Given the description of an element on the screen output the (x, y) to click on. 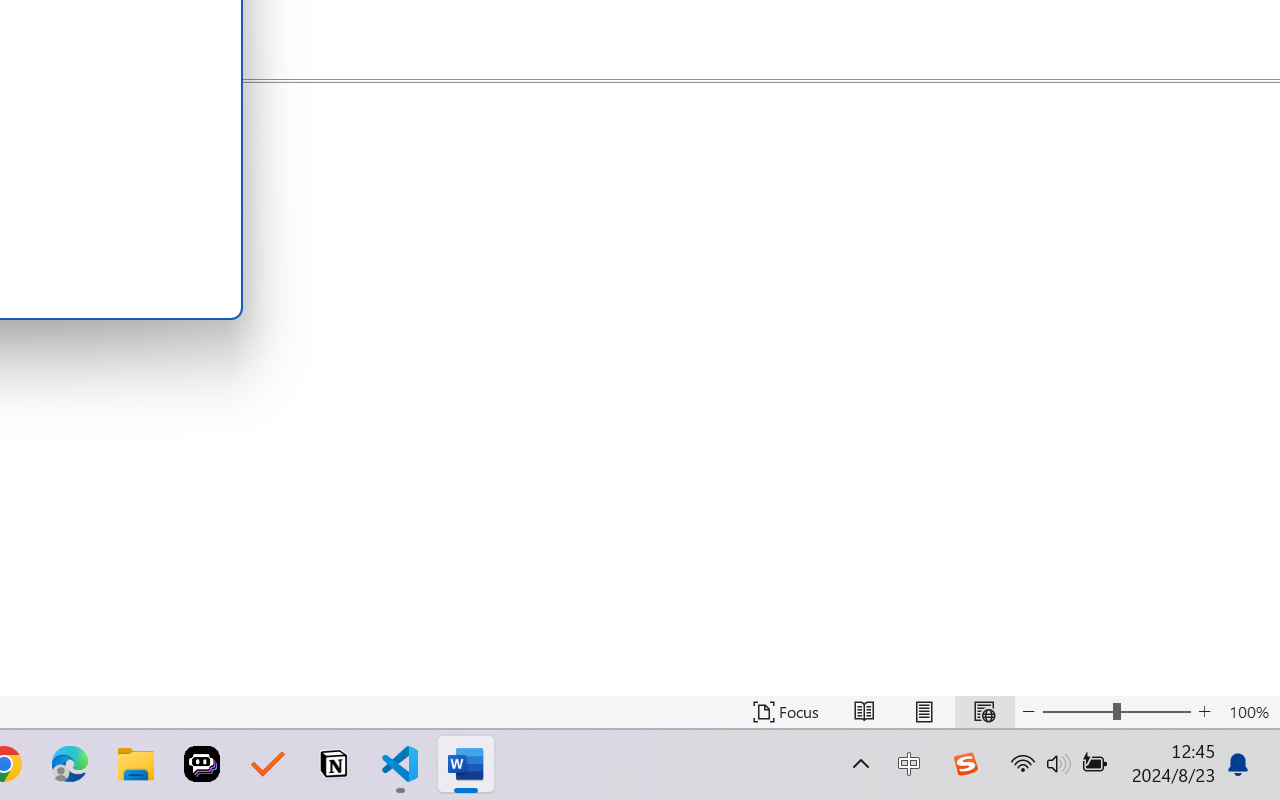
Microsoft Edge (69, 764)
